Given the description of an element on the screen output the (x, y) to click on. 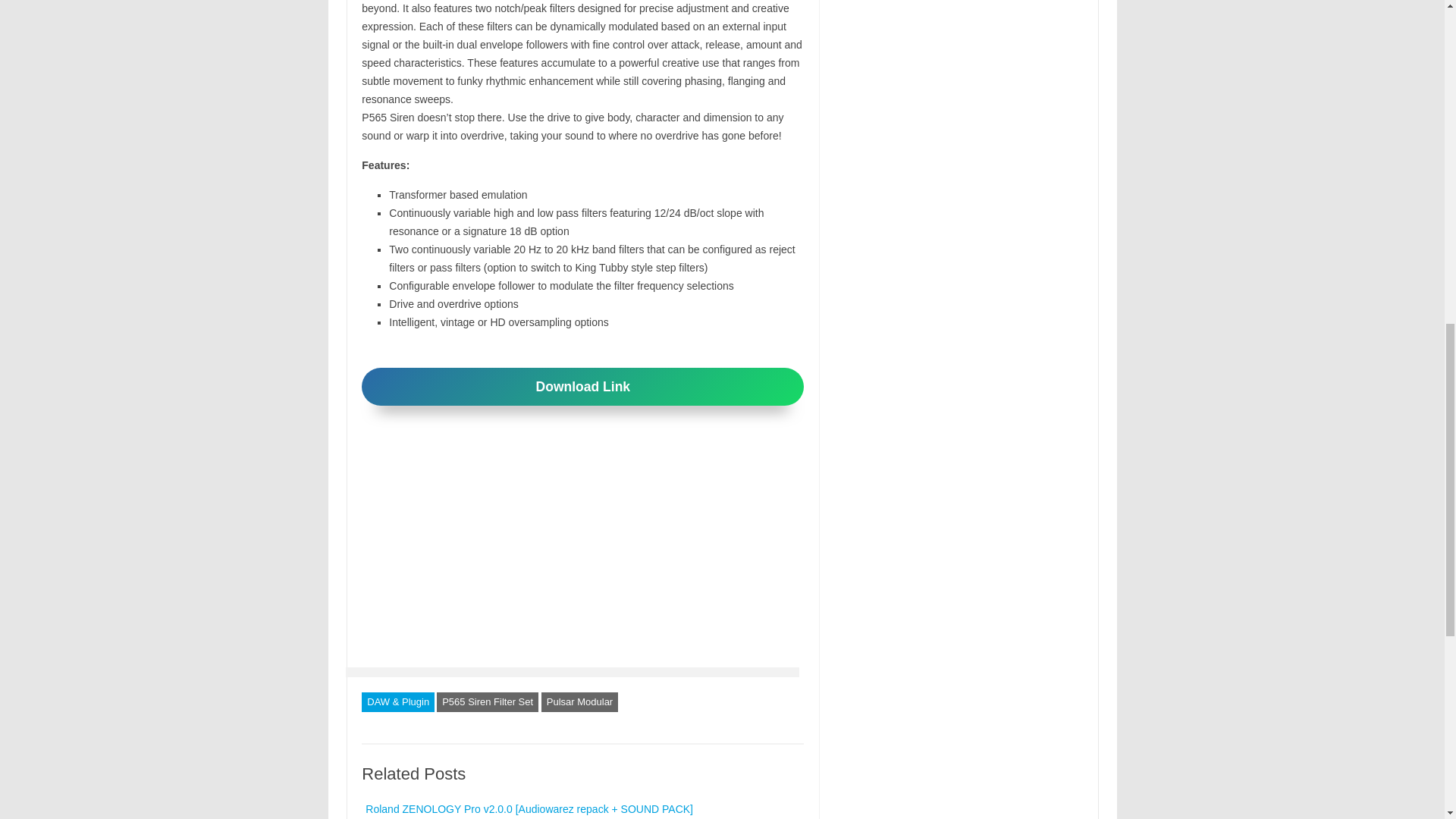
P565 Siren Filter Set (487, 701)
Pulsar Modular (579, 701)
